Given the description of an element on the screen output the (x, y) to click on. 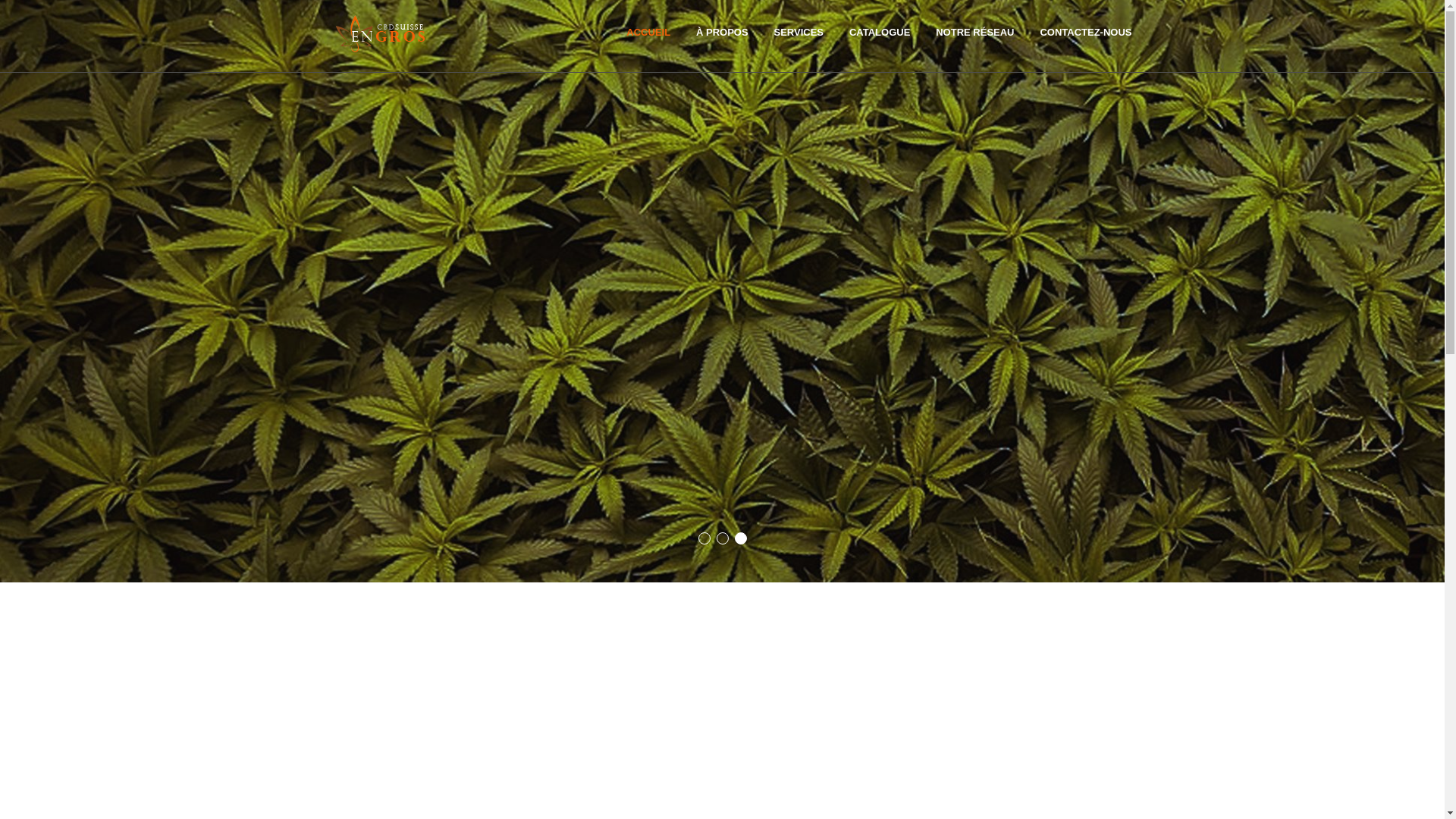
ACCUEIL Element type: text (648, 32)
CATALOGUE Element type: text (879, 32)
CONTACTEZ-NOUS Element type: text (1085, 32)
SERVICES Element type: text (798, 32)
